Given the description of an element on the screen output the (x, y) to click on. 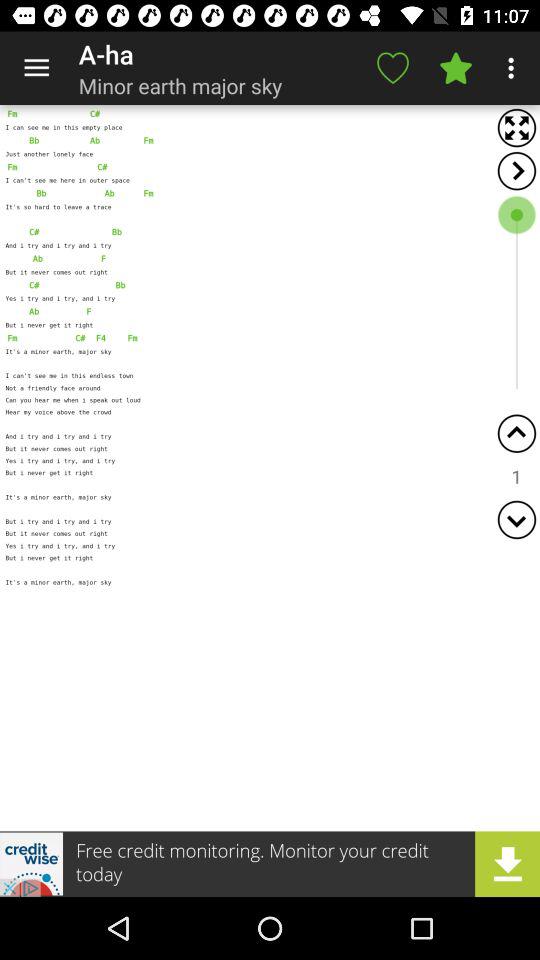
go up (516, 433)
